Given the description of an element on the screen output the (x, y) to click on. 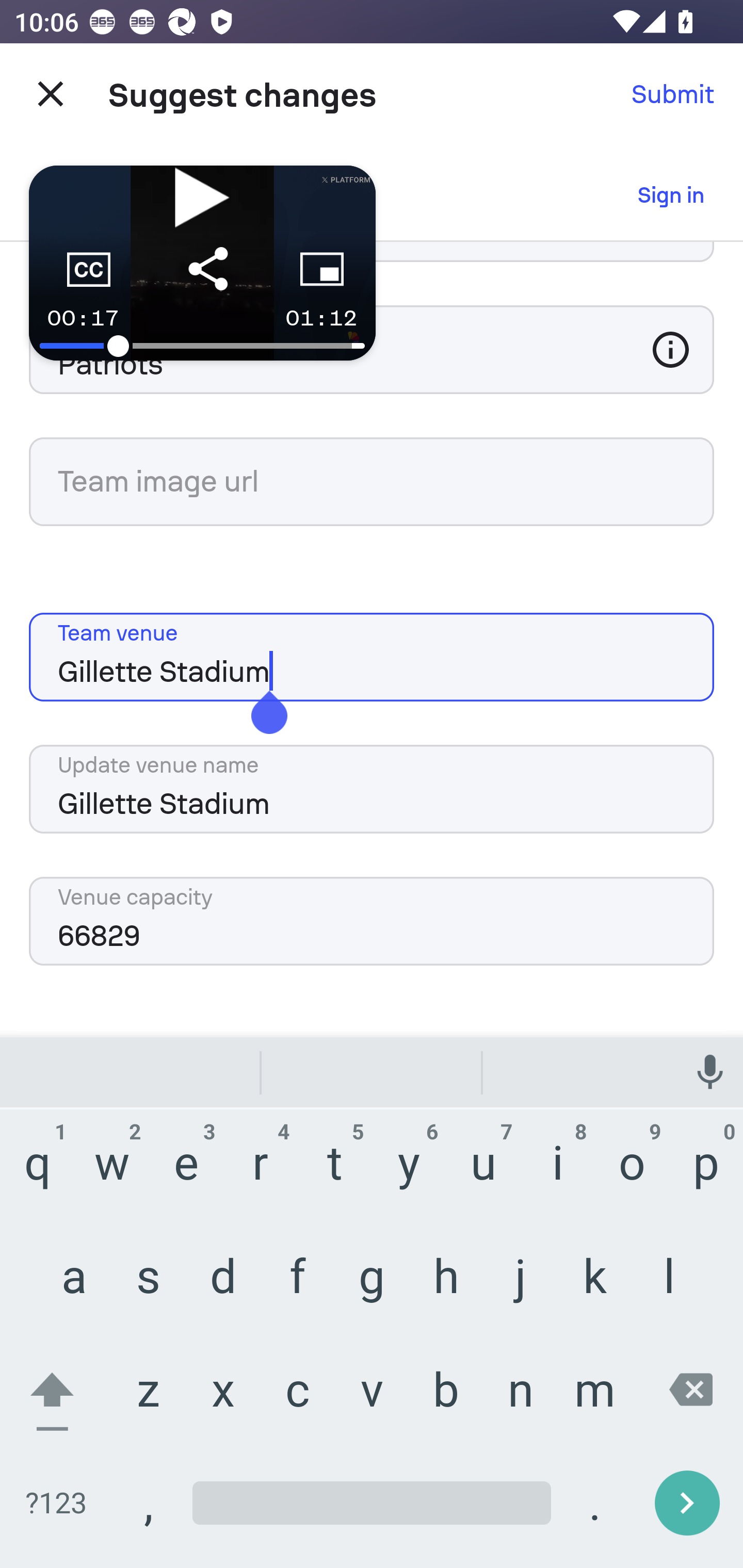
Submit (672, 93)
Sign in (670, 195)
Team image url (371, 481)
Gillette Stadium (371, 656)
Gillette Stadium (371, 789)
66829 (371, 920)
